Given the description of an element on the screen output the (x, y) to click on. 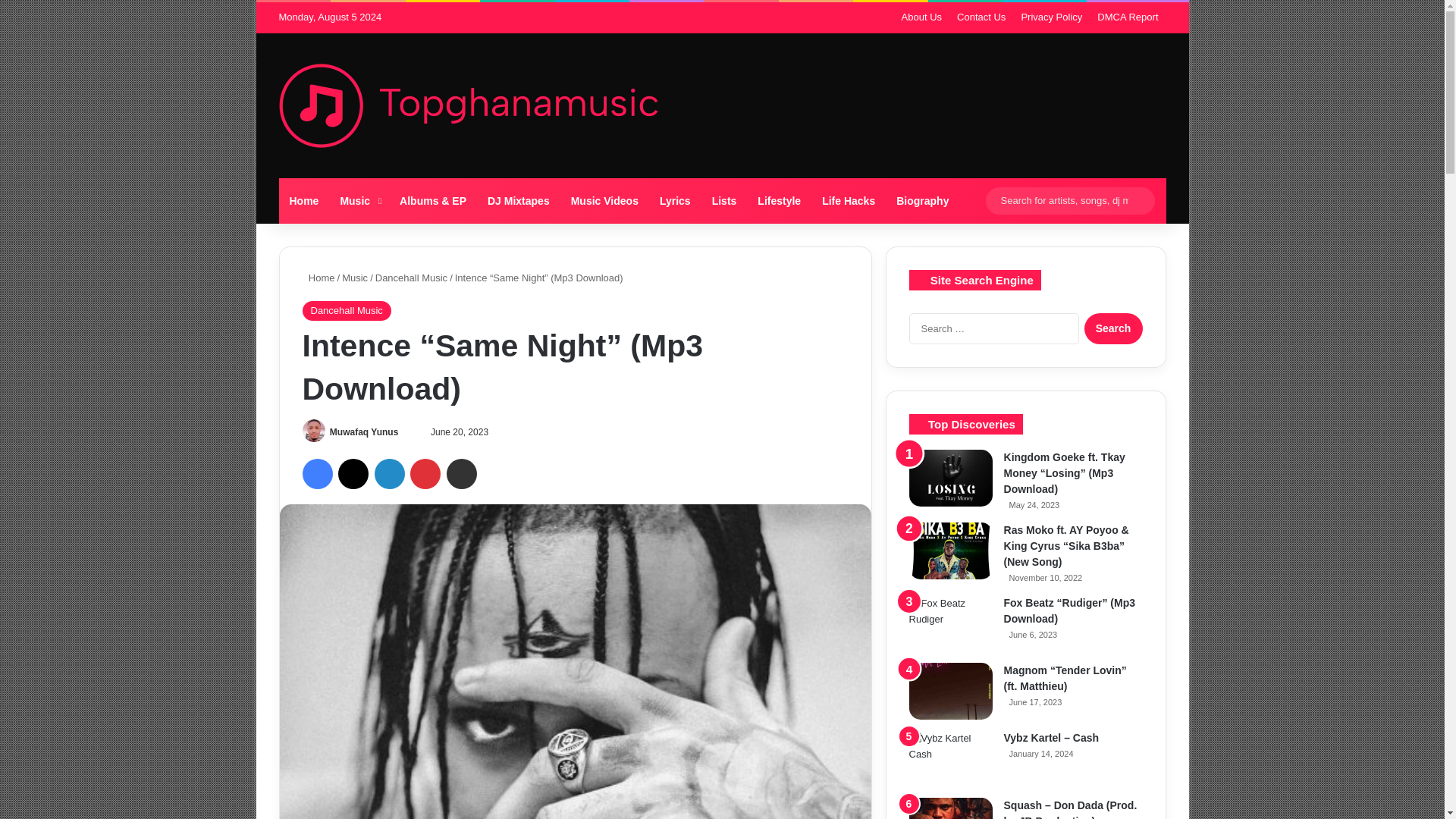
Life Hacks (847, 200)
DMCA Report (1127, 17)
Home (317, 277)
Dancehall Music (345, 311)
Muwafaq Yunus (363, 431)
Privacy Policy (1051, 17)
Dancehall Music (410, 277)
Search for artists, songs, dj mixtapes etc... (1139, 200)
Lists (724, 200)
Lifestyle (778, 200)
Share via Email (461, 473)
Contact Us (981, 17)
Music Videos (604, 200)
LinkedIn (389, 473)
TopGhanaMusic (468, 105)
